Given the description of an element on the screen output the (x, y) to click on. 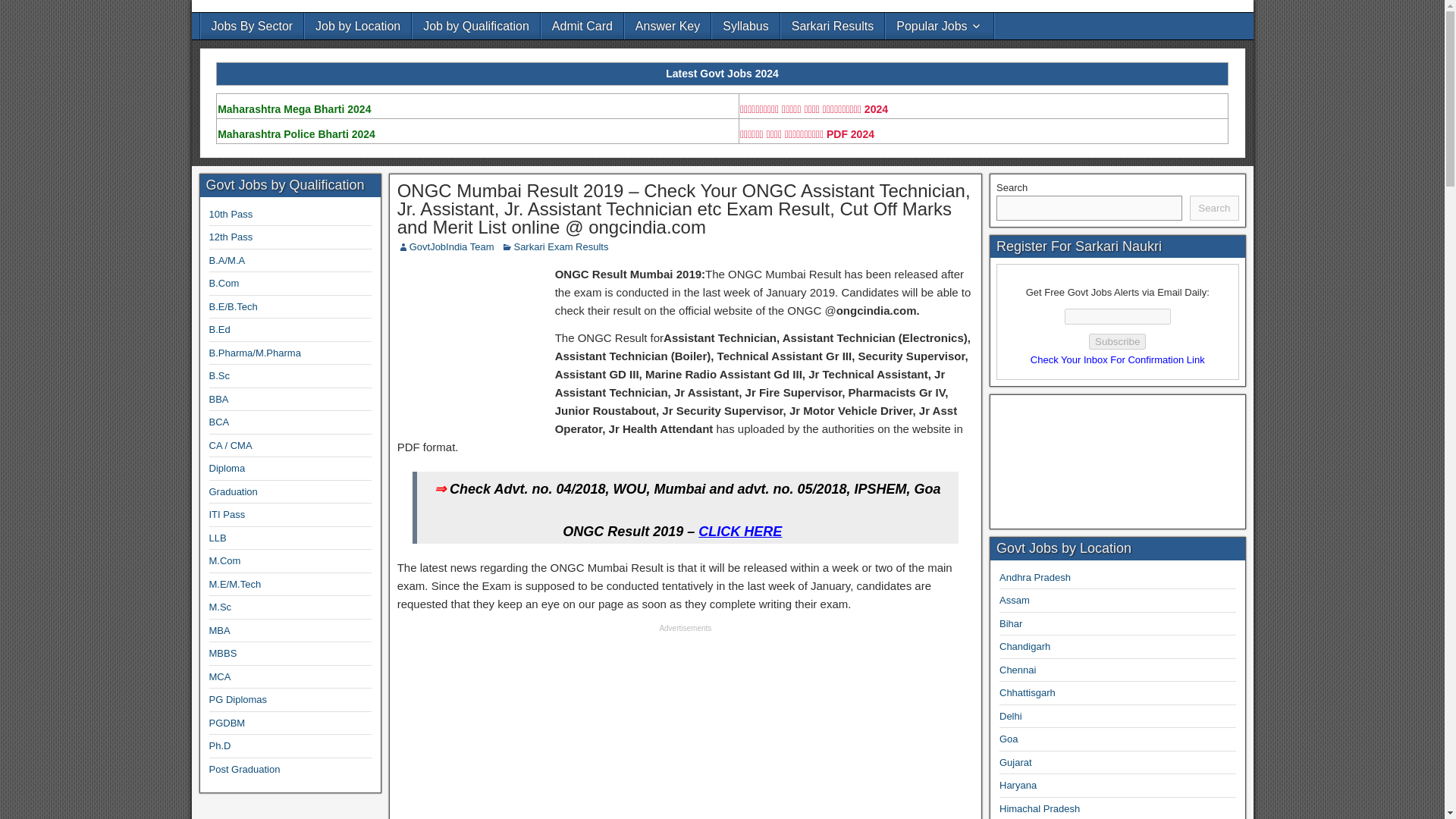
Subscribe (1117, 341)
CLICK HERE (739, 531)
Answer Key (667, 26)
Job by Location (357, 26)
Jobs By Sector (251, 26)
Job by Qualification (476, 26)
10th Pass (231, 214)
Admit Card (582, 26)
Maharashtra Mega Bharti 2024 (293, 109)
Maharashtra Police Bharti 2024 (297, 133)
GovtJobIndia Team (452, 246)
Sarkari Results (831, 26)
B.Com (224, 283)
Popular Jobs (938, 26)
12th Pass (231, 236)
